Given the description of an element on the screen output the (x, y) to click on. 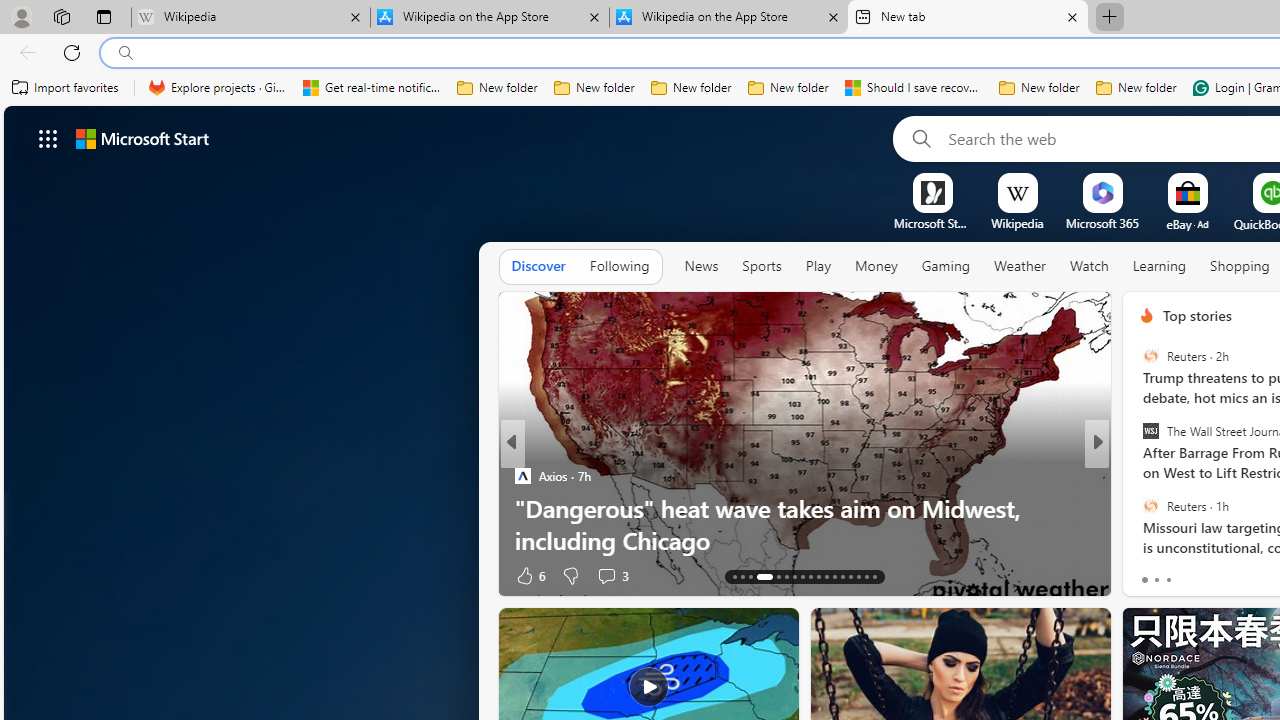
App launcher (47, 138)
AutomationID: tab-22 (818, 576)
AutomationID: tab-16 (757, 576)
15 Like (1149, 574)
View comments 339 Comment (1234, 575)
View comments 430 Comment (11, 575)
AutomationID: tab-29 (874, 576)
72 Like (1149, 574)
tab-0 (1143, 579)
